Given the description of an element on the screen output the (x, y) to click on. 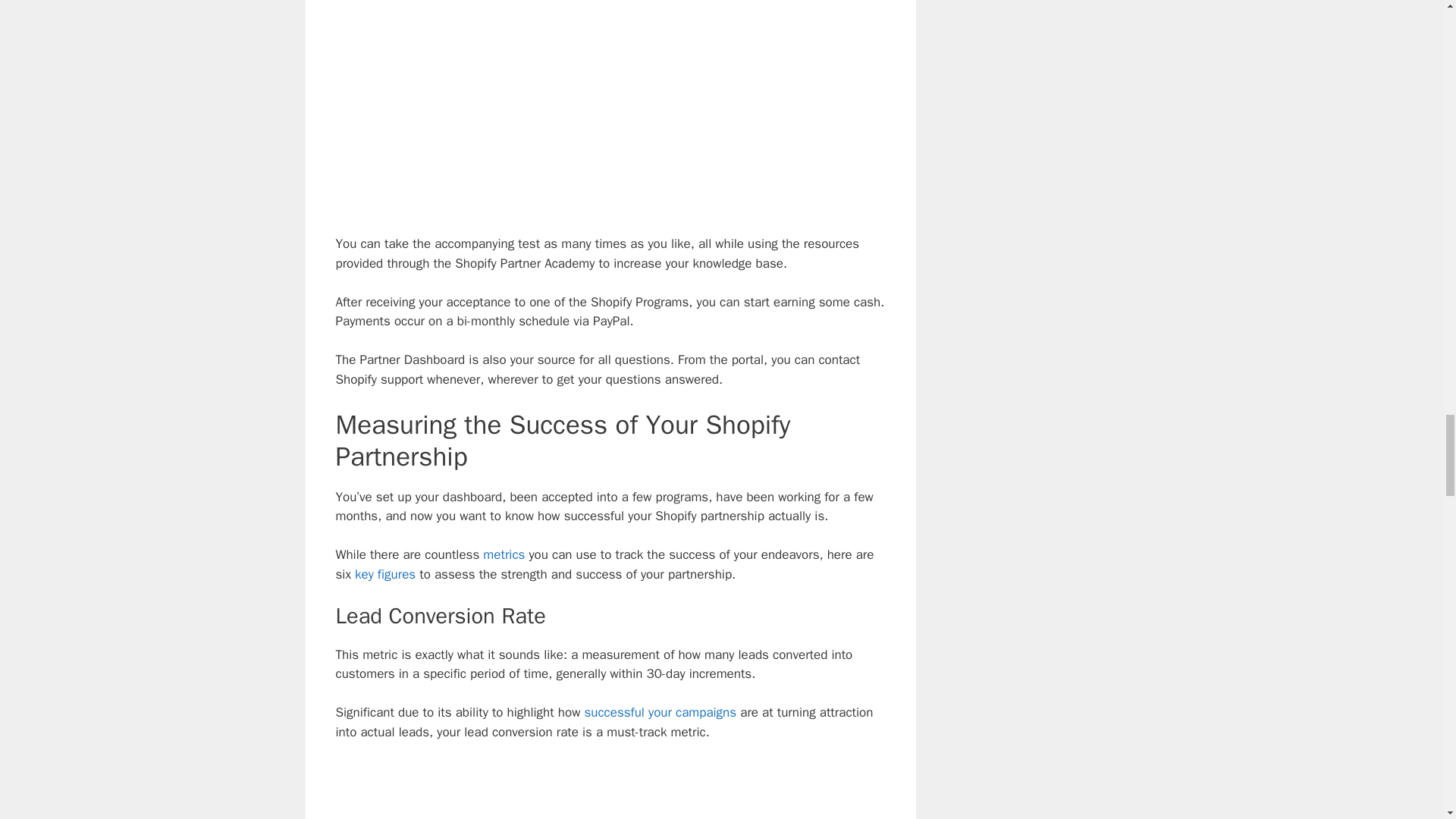
key figures (384, 574)
successful your campaigns (659, 712)
metrics (503, 554)
